Given the description of an element on the screen output the (x, y) to click on. 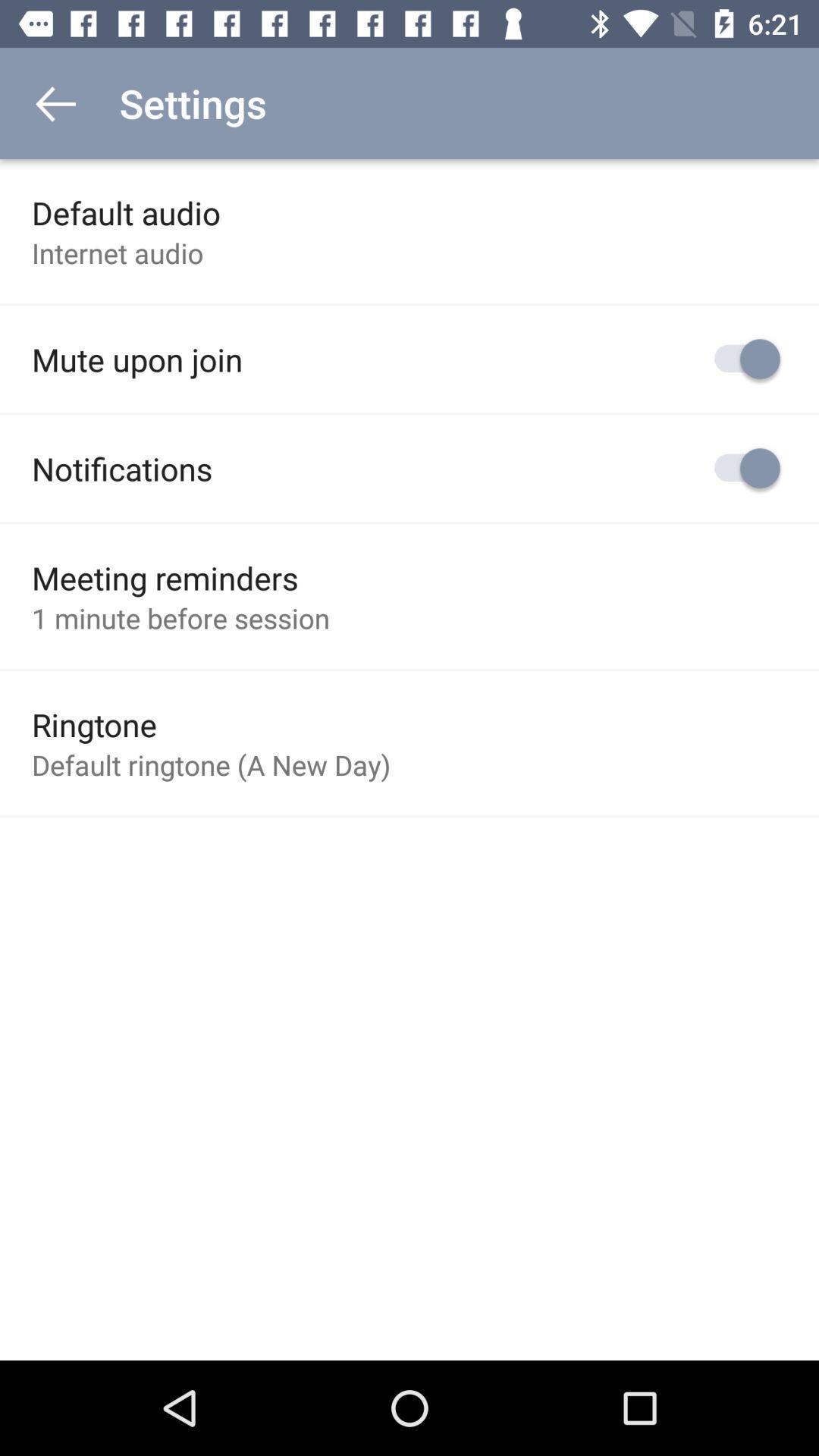
jump to default audio (125, 212)
